Given the description of an element on the screen output the (x, y) to click on. 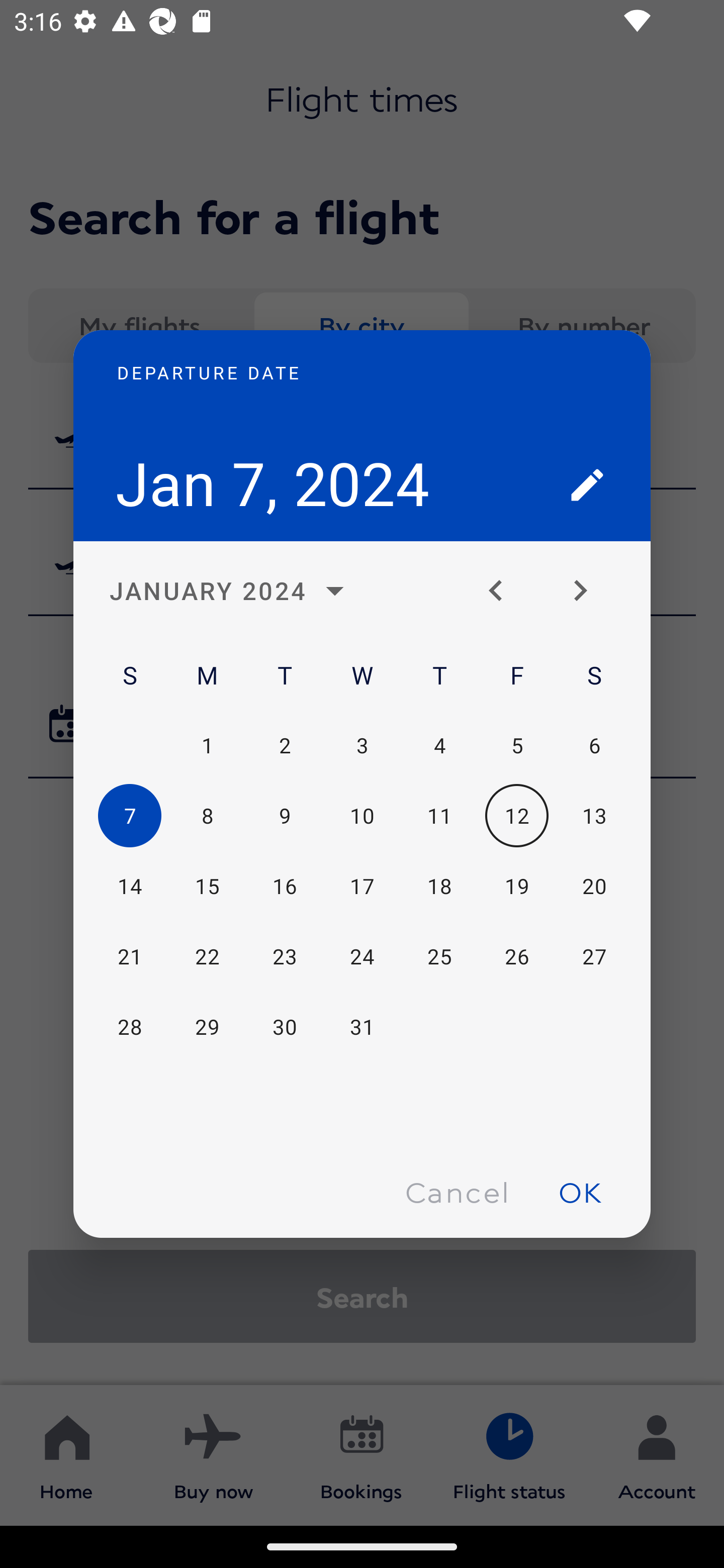
Switch to text input mode (587, 484)
JANUARY 2024 (231, 590)
Change to previous month (502, 590)
Change to next month (587, 590)
1 Mon, Jan 1 (207, 745)
2 Tue, Jan 2 (284, 745)
3 Wed, Jan 3 (361, 745)
4 Thu, Jan 4 (438, 745)
5 Fri, Jan 5 (516, 745)
6 Sat, Jan 6 (593, 745)
7 Sun, Jan 7 (129, 815)
8 Mon, Jan 8 (207, 815)
9 Tue, Jan 9 (284, 815)
10 Wed, Jan 10 (361, 815)
11 Thu, Jan 11 (438, 815)
12 Today Fri, Jan 12 (516, 815)
13 Sat, Jan 13 (593, 815)
14 Sun, Jan 14 (129, 886)
15 Mon, Jan 15 (207, 886)
16 Tue, Jan 16 (284, 886)
17 Wed, Jan 17 (361, 886)
18 Thu, Jan 18 (438, 886)
19 Fri, Jan 19 (516, 886)
20 Sat, Jan 20 (593, 886)
21 Sun, Jan 21 (129, 955)
22 Mon, Jan 22 (207, 955)
23 Tue, Jan 23 (284, 955)
24 Wed, Jan 24 (361, 955)
25 Thu, Jan 25 (438, 955)
26 Fri, Jan 26 (516, 955)
27 Sat, Jan 27 (593, 955)
28 Sun, Jan 28 (129, 1025)
29 Mon, Jan 29 (207, 1025)
30 Tue, Jan 30 (284, 1025)
31 Wed, Jan 31 (361, 1025)
Cancel (456, 1191)
OK null, OK (580, 1191)
